Given the description of an element on the screen output the (x, y) to click on. 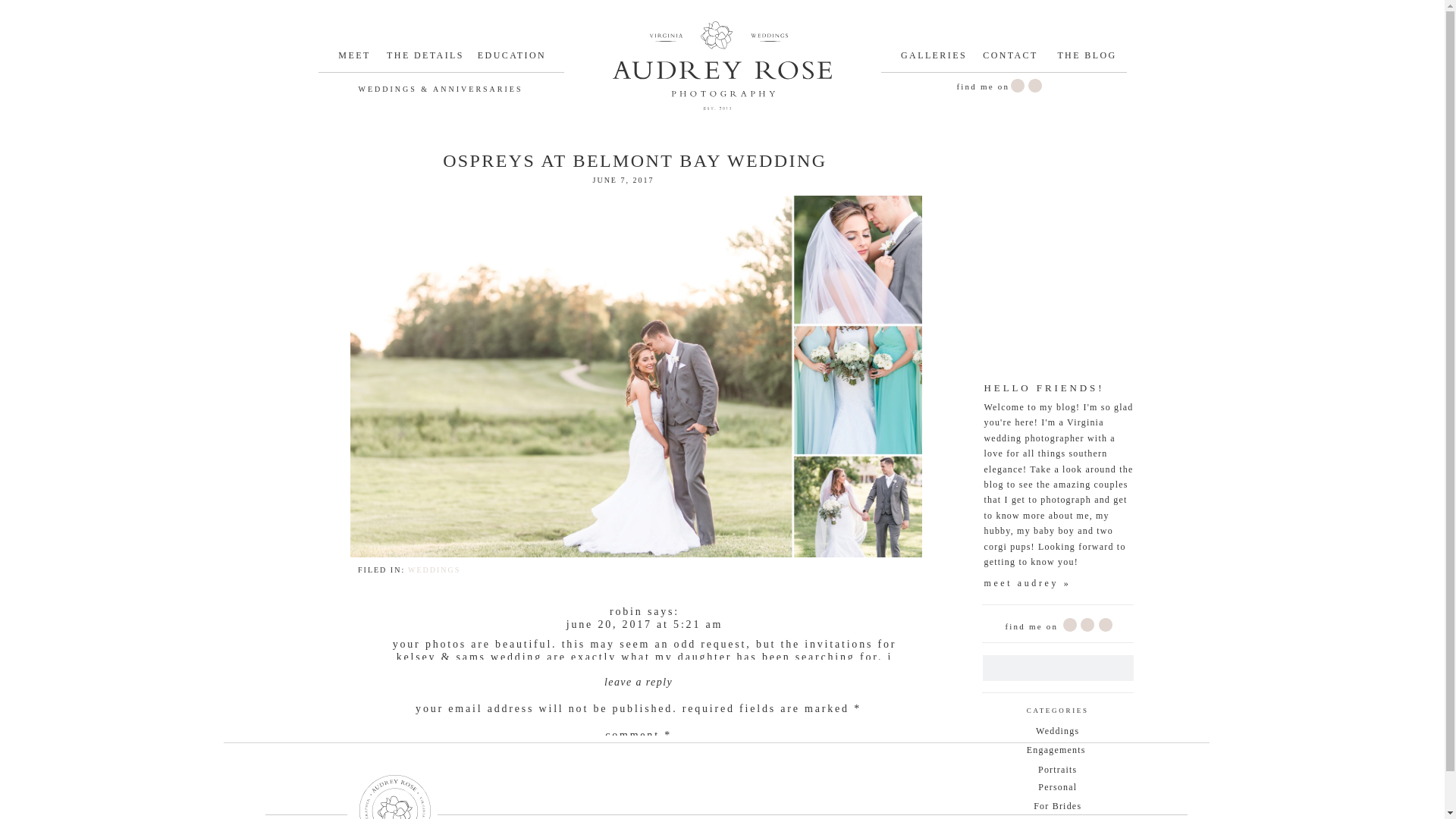
Engagements  (1056, 751)
EDUCATION (511, 59)
CONTACT (1010, 59)
GALLERIES (933, 59)
MEET (354, 59)
THE BLOG (1086, 59)
Personal (1057, 789)
THE DETAILS (425, 59)
Portraits (1056, 771)
